Given the description of an element on the screen output the (x, y) to click on. 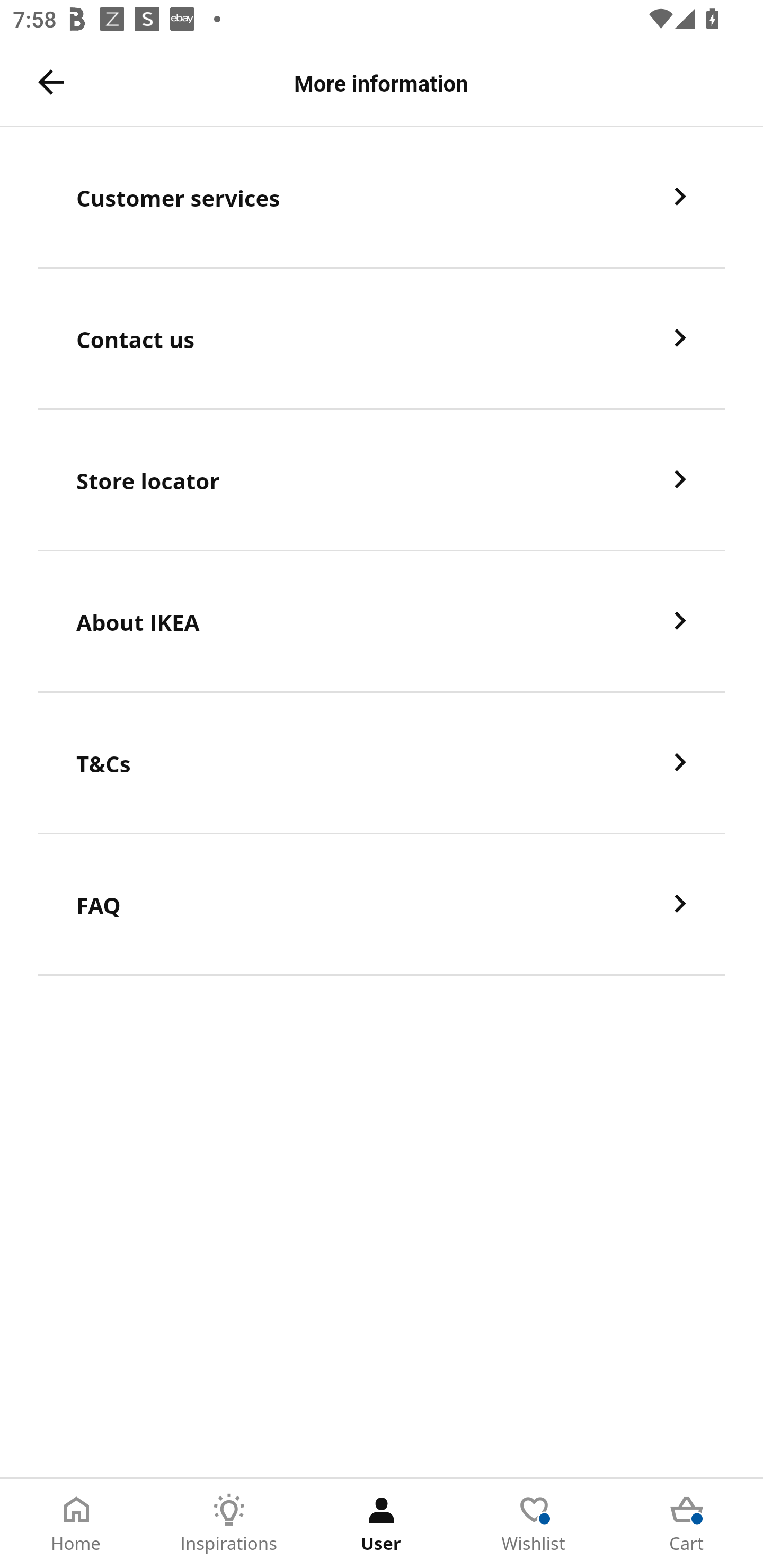
Customer services (381, 197)
Contact us (381, 338)
Store locator (381, 480)
About IKEA (381, 622)
T&Cs (381, 763)
FAQ (381, 904)
Home
Tab 1 of 5 (76, 1522)
Inspirations
Tab 2 of 5 (228, 1522)
User
Tab 3 of 5 (381, 1522)
Wishlist
Tab 4 of 5 (533, 1522)
Cart
Tab 5 of 5 (686, 1522)
